Given the description of an element on the screen output the (x, y) to click on. 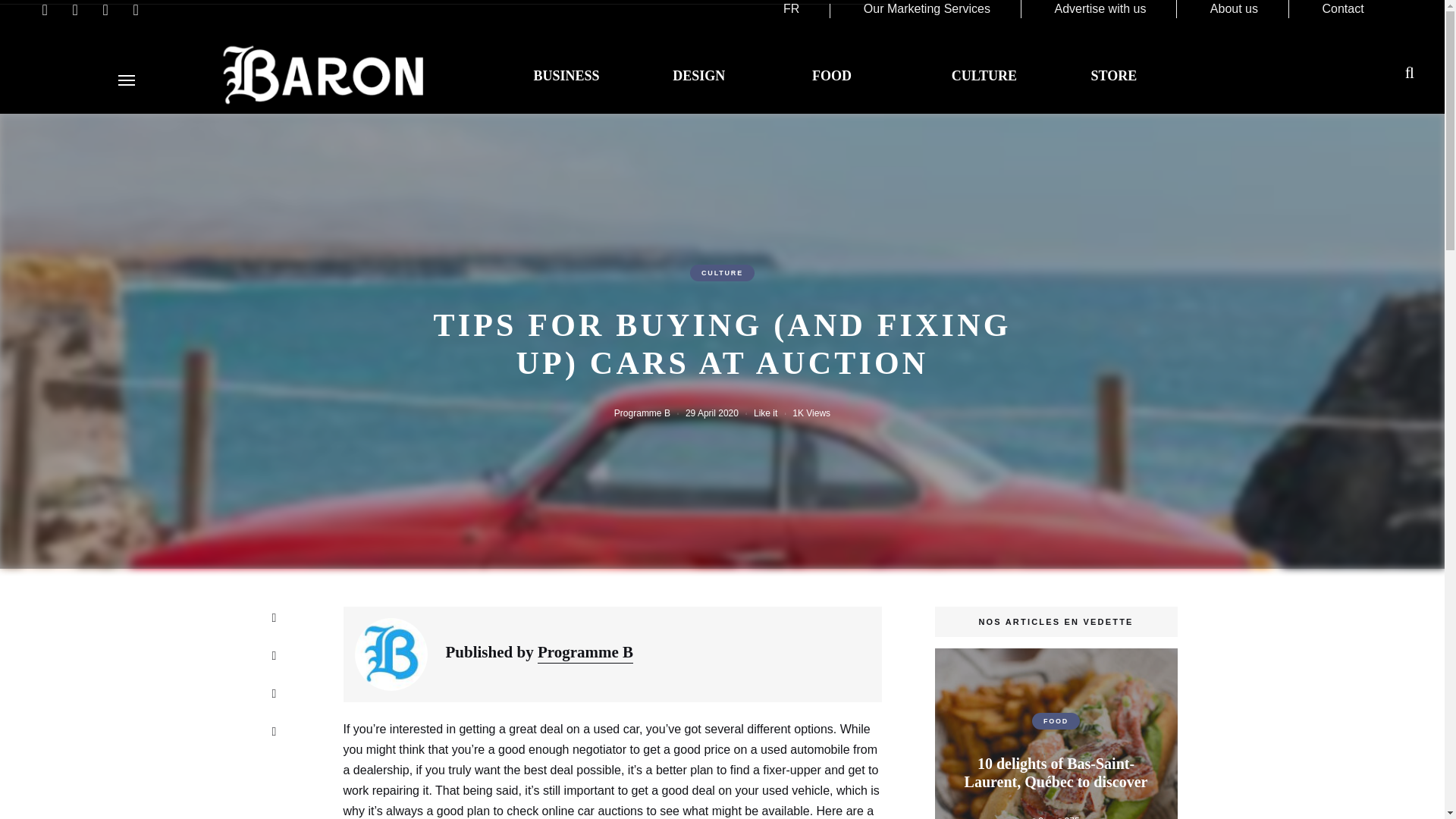
FR (791, 8)
Programme B (641, 412)
About us (1233, 8)
Contact (1342, 8)
Menu (126, 79)
BUSINESS (565, 75)
Advertise with us (1099, 8)
Pinterest (273, 731)
Facebook (273, 655)
Twitter (273, 693)
